Given the description of an element on the screen output the (x, y) to click on. 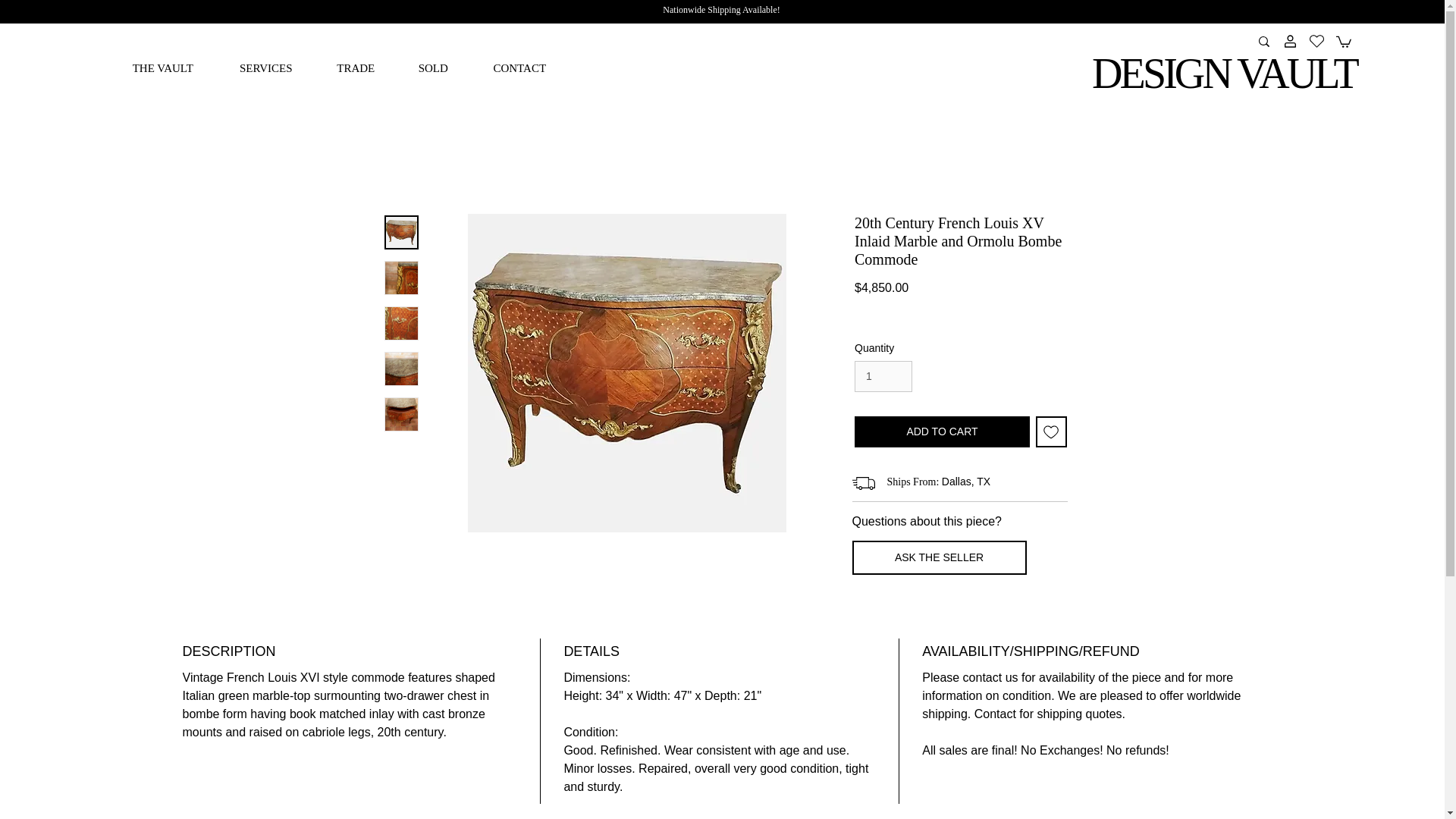
ASK THE SELLER (938, 557)
TRADE (355, 68)
CONTACT (518, 68)
ADD TO CART (941, 431)
SOLD (432, 68)
1 (883, 376)
SERVICES (264, 68)
THE VAULT (162, 68)
DESIGN VAULT (1224, 73)
